Given the description of an element on the screen output the (x, y) to click on. 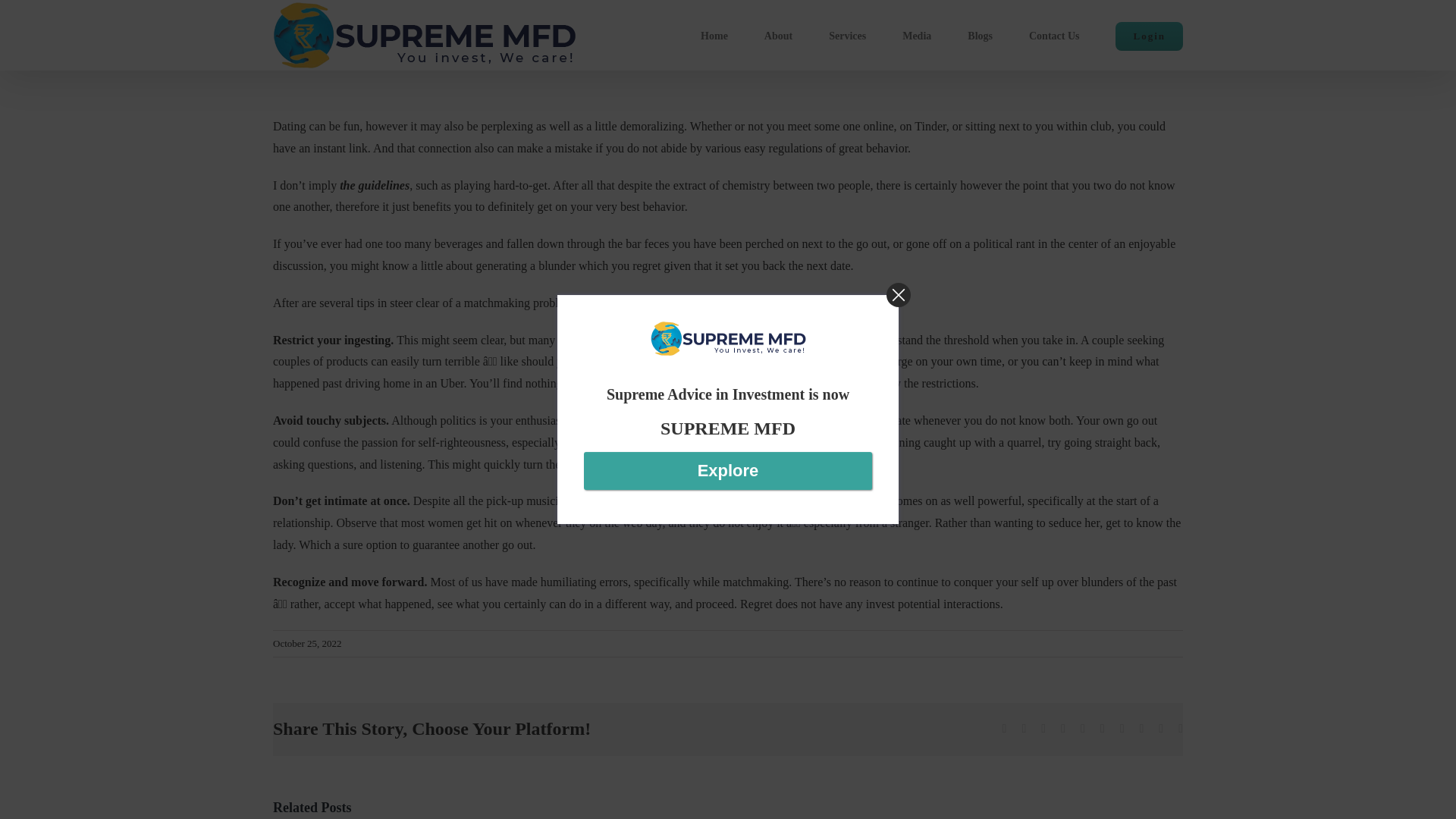
Login (1148, 35)
couple seeking couples (718, 350)
